Given the description of an element on the screen output the (x, y) to click on. 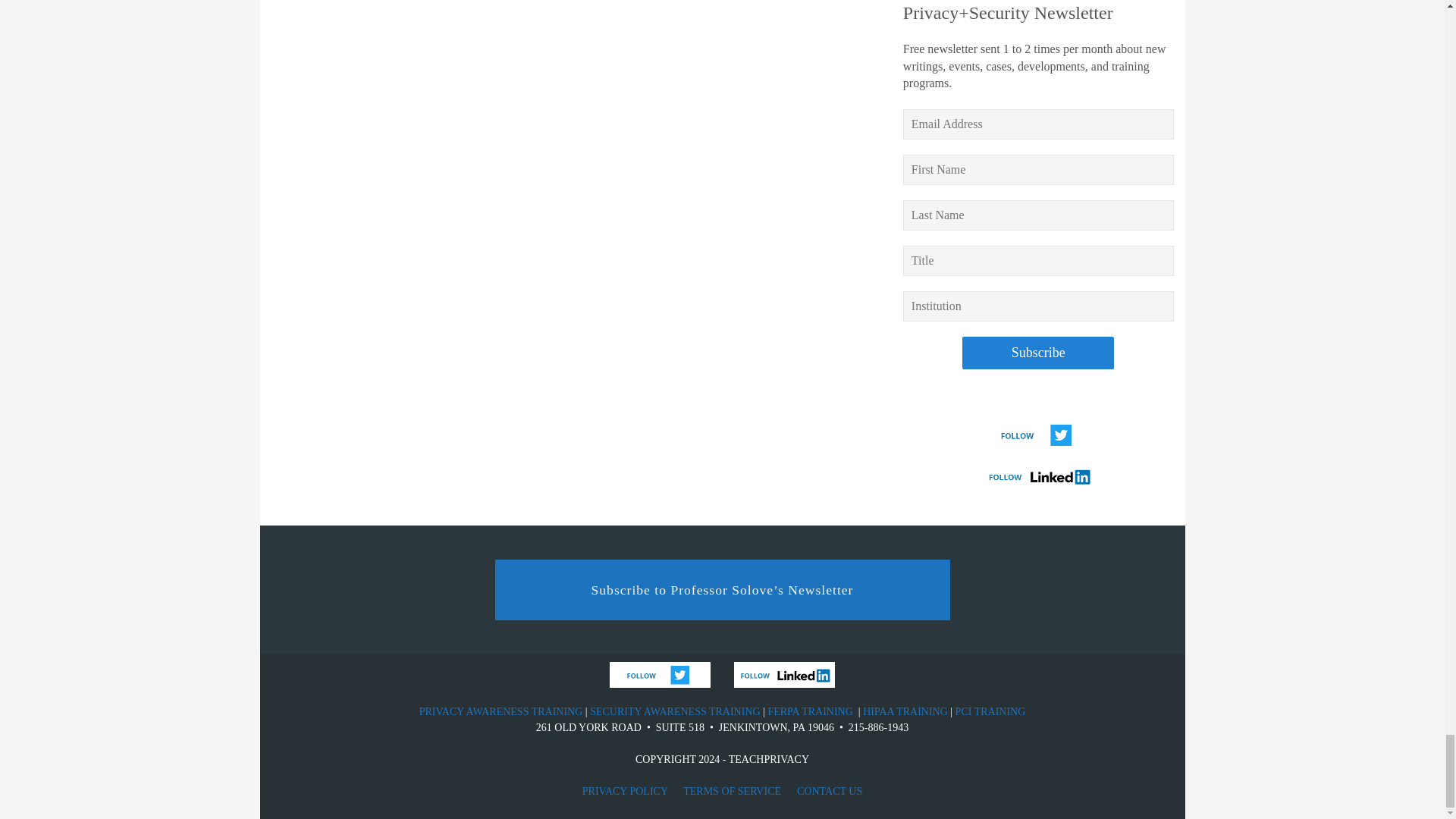
Subscribe (1037, 352)
